Given the description of an element on the screen output the (x, y) to click on. 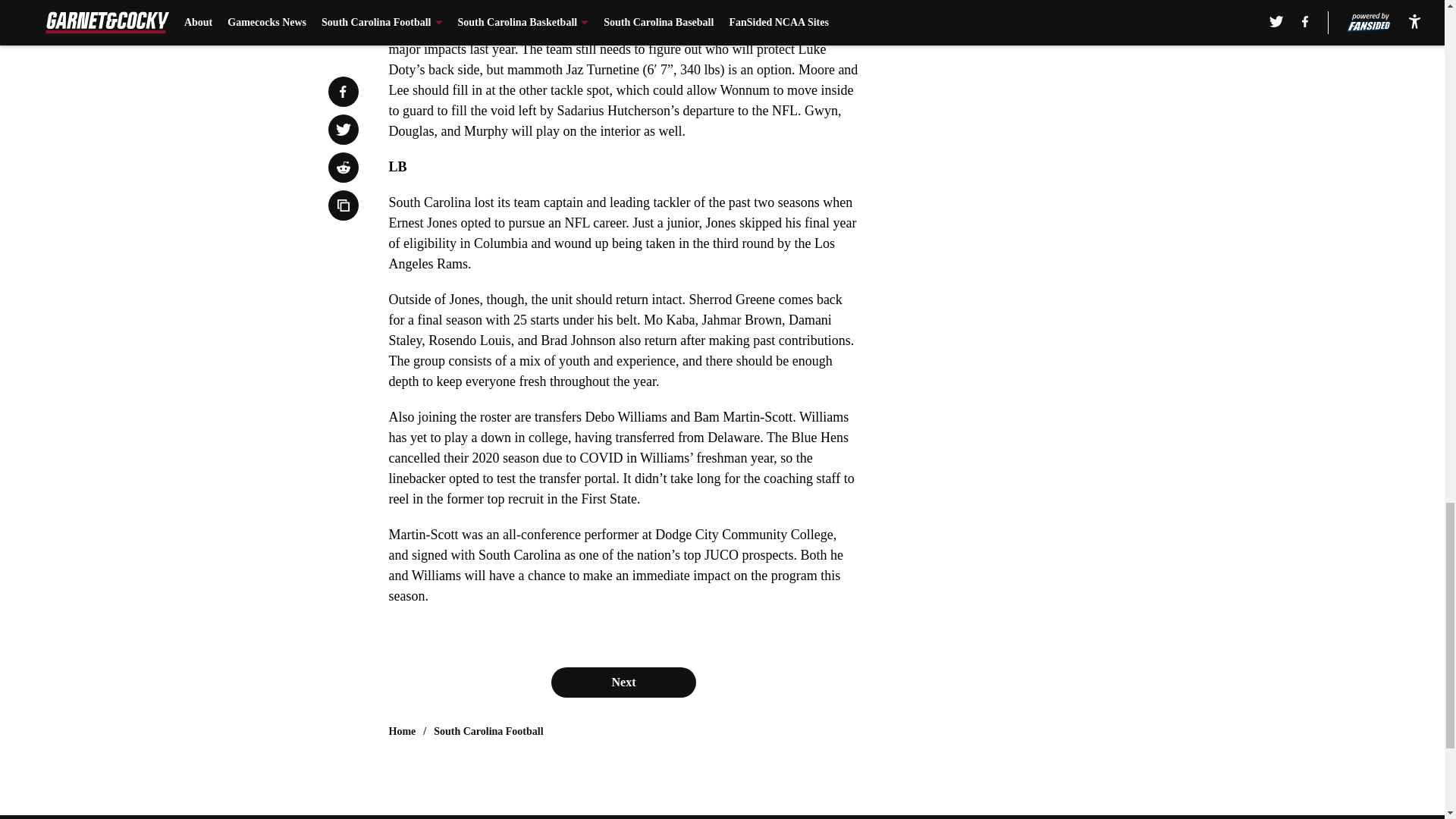
South Carolina Football (488, 731)
Next (622, 682)
Home (401, 731)
